Given the description of an element on the screen output the (x, y) to click on. 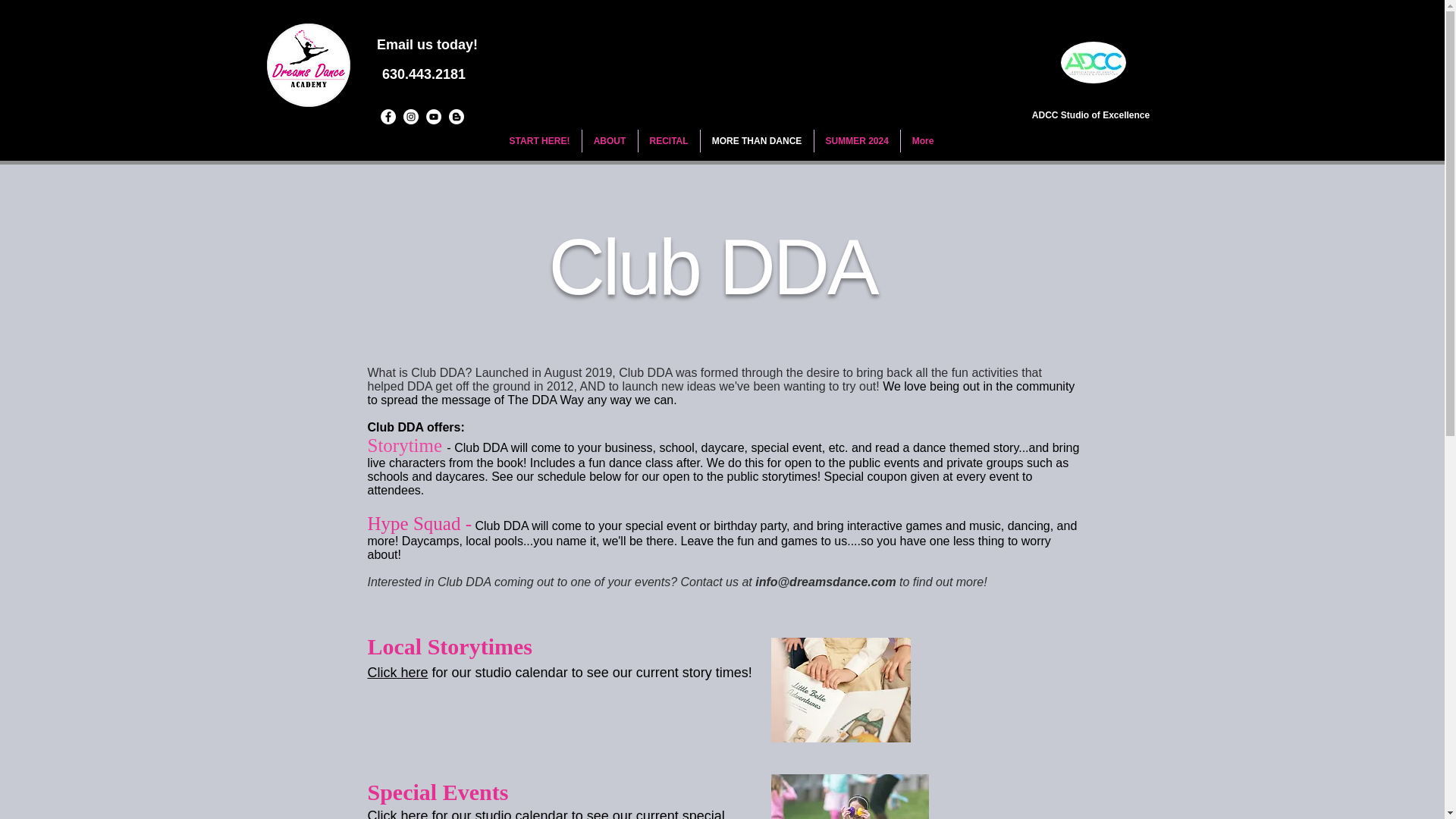
 630.443.2181 (421, 73)
SUMMER 2024 (856, 140)
MORE THAN DANCE (756, 140)
START HERE! (538, 140)
RECITAL (669, 140)
ABOUT (609, 140)
